Given the description of an element on the screen output the (x, y) to click on. 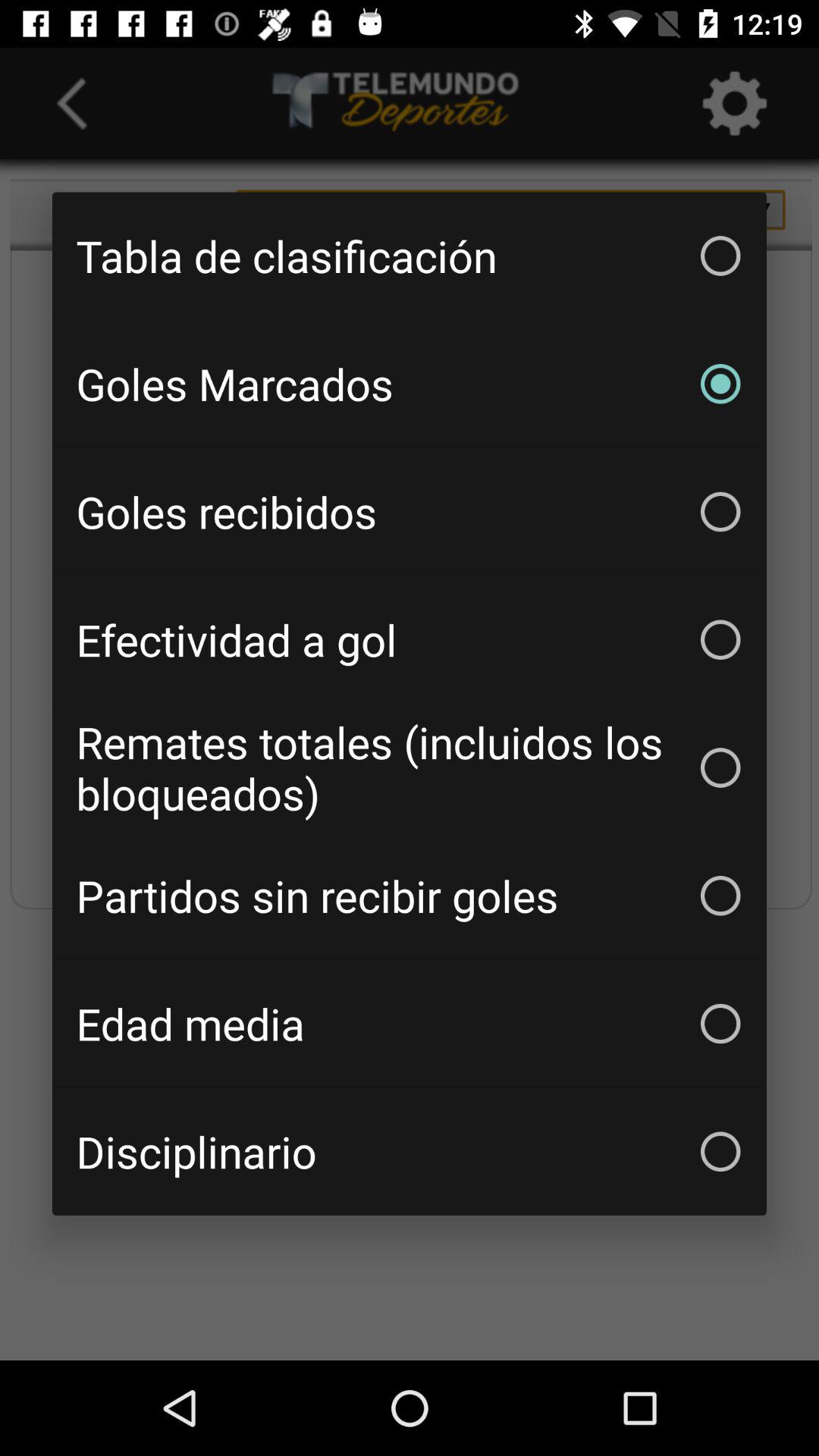
click item above the remates totales incluidos icon (409, 639)
